Given the description of an element on the screen output the (x, y) to click on. 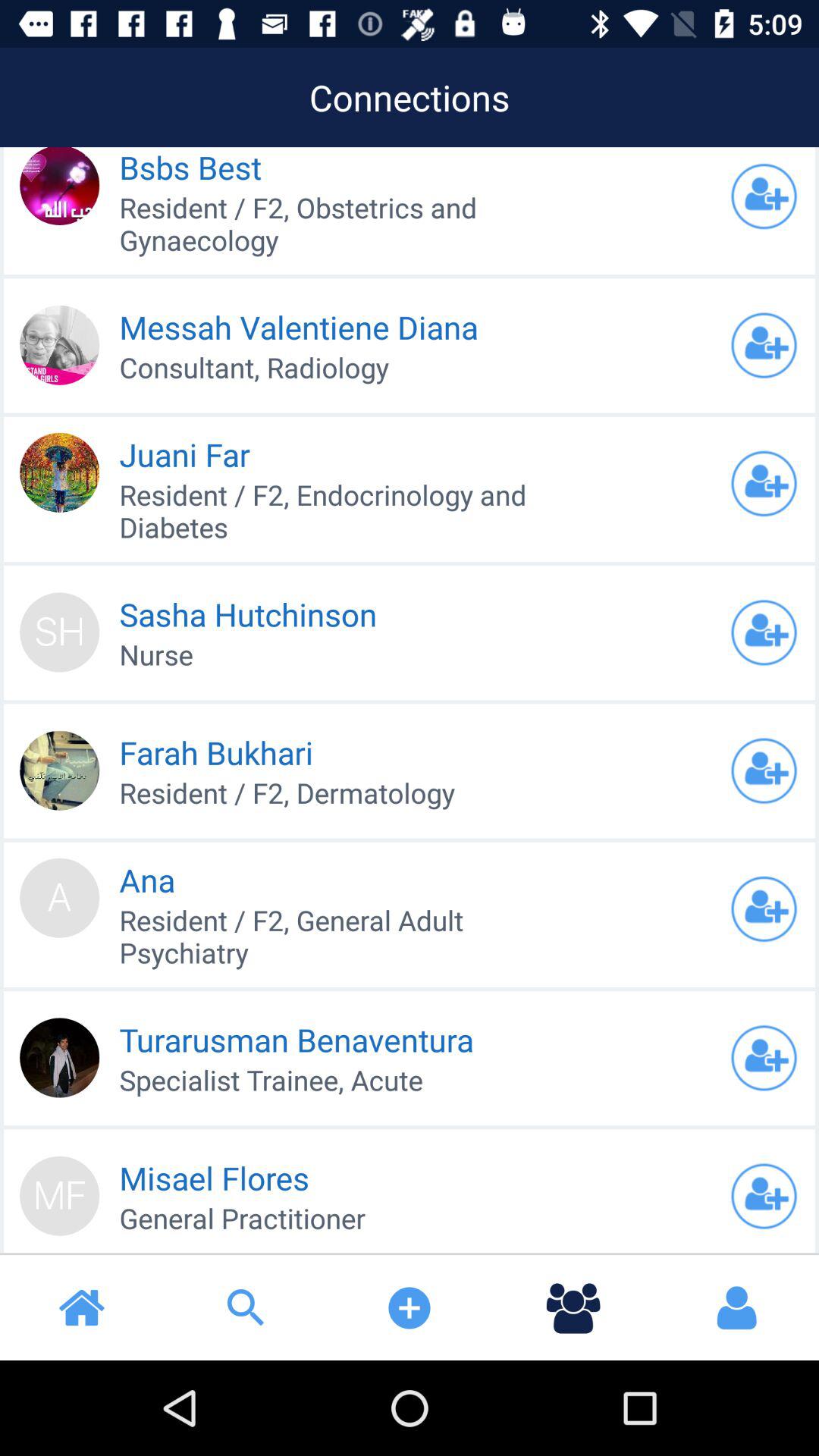
go back (764, 483)
